Given the description of an element on the screen output the (x, y) to click on. 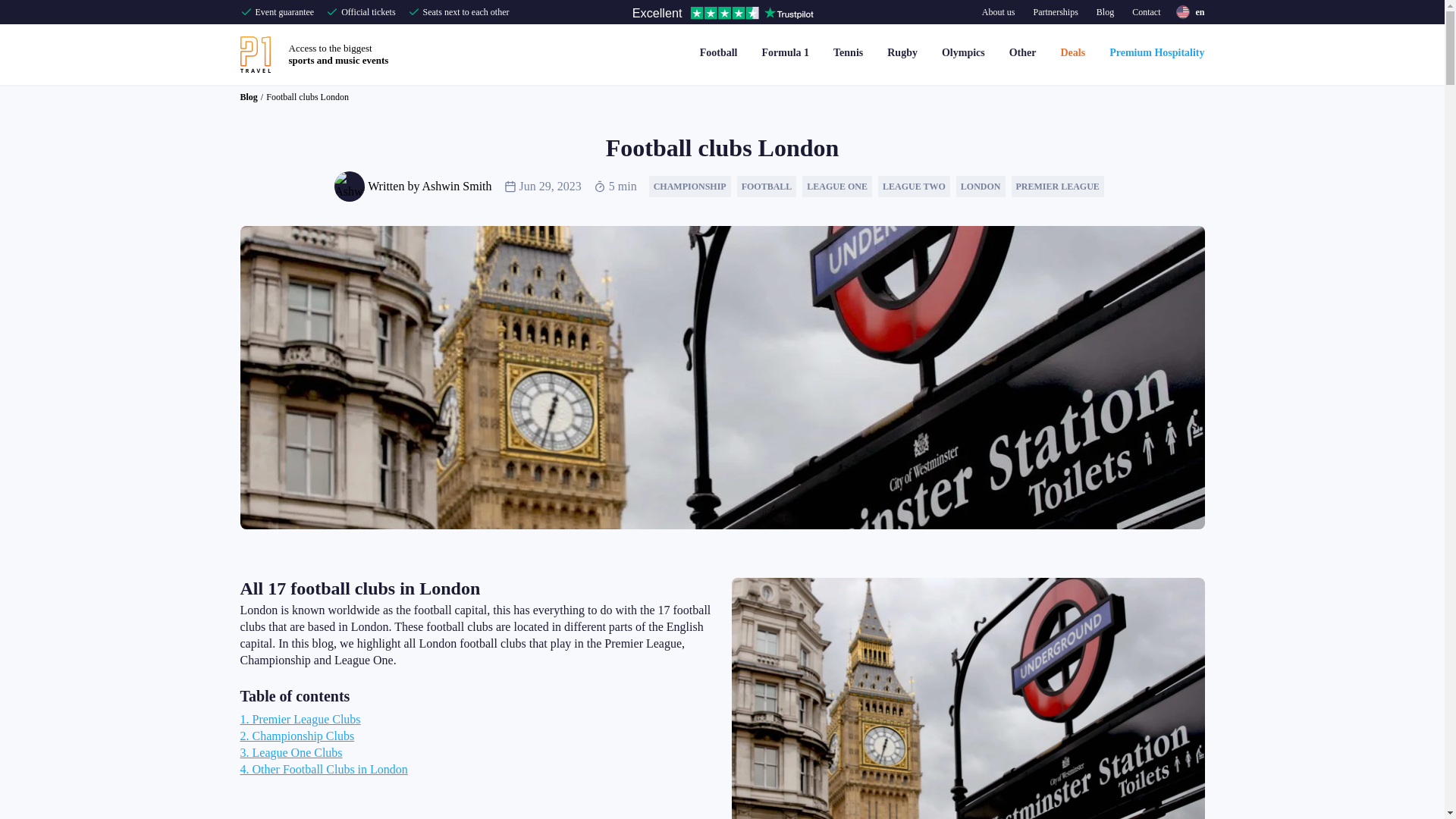
Football (718, 53)
Rugby (902, 53)
en (1189, 12)
Blog (1104, 12)
Partnerships (1054, 12)
Blog (248, 96)
Tennis (338, 54)
Formula 1 (848, 53)
Customer reviews powered by Trustpilot (785, 53)
Premium Hospitality (733, 14)
About us (1156, 53)
Olympics (998, 12)
Other (963, 53)
Contact (1022, 53)
